Given the description of an element on the screen output the (x, y) to click on. 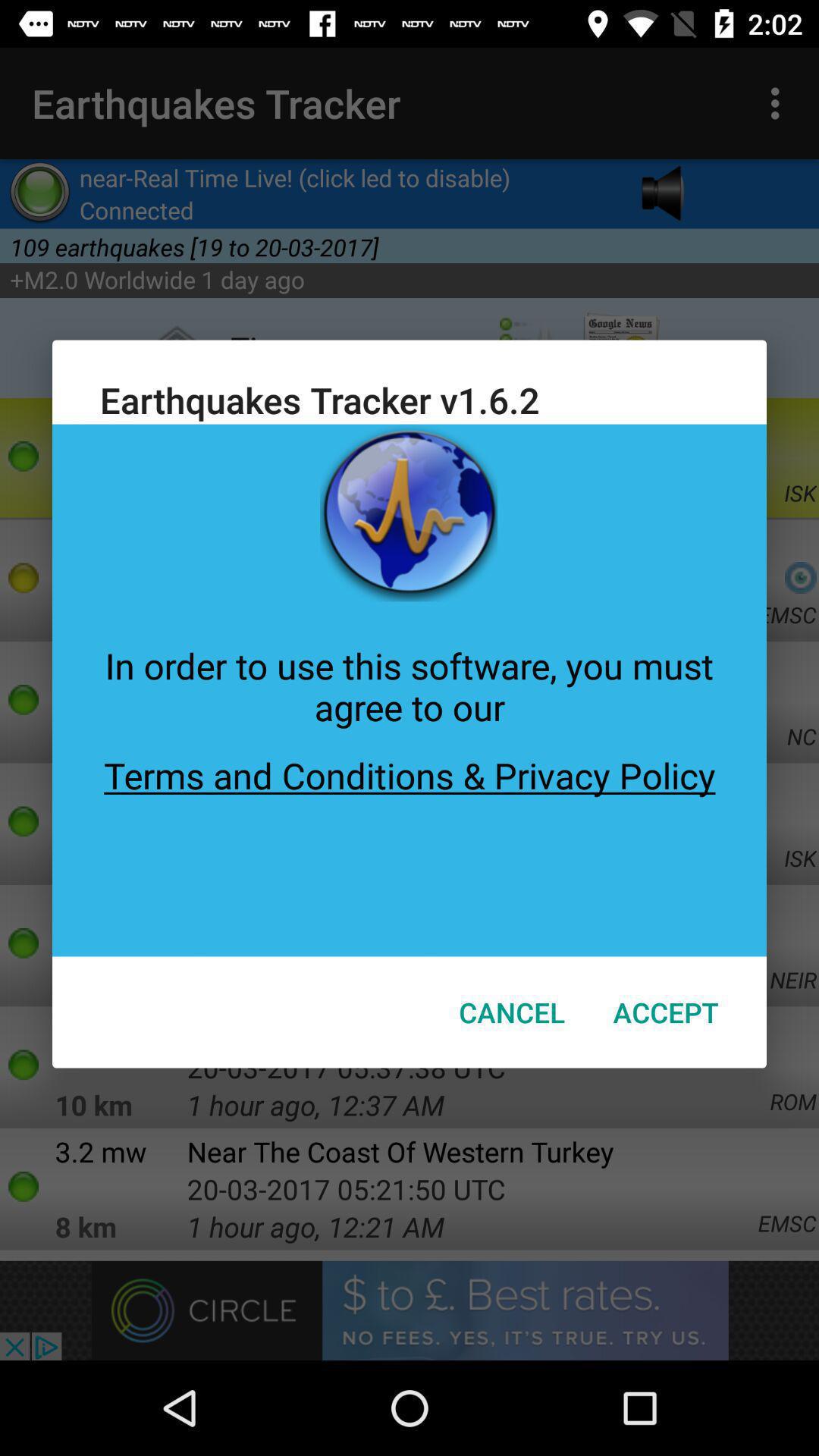
launch item to the left of the accept item (512, 1012)
